Given the description of an element on the screen output the (x, y) to click on. 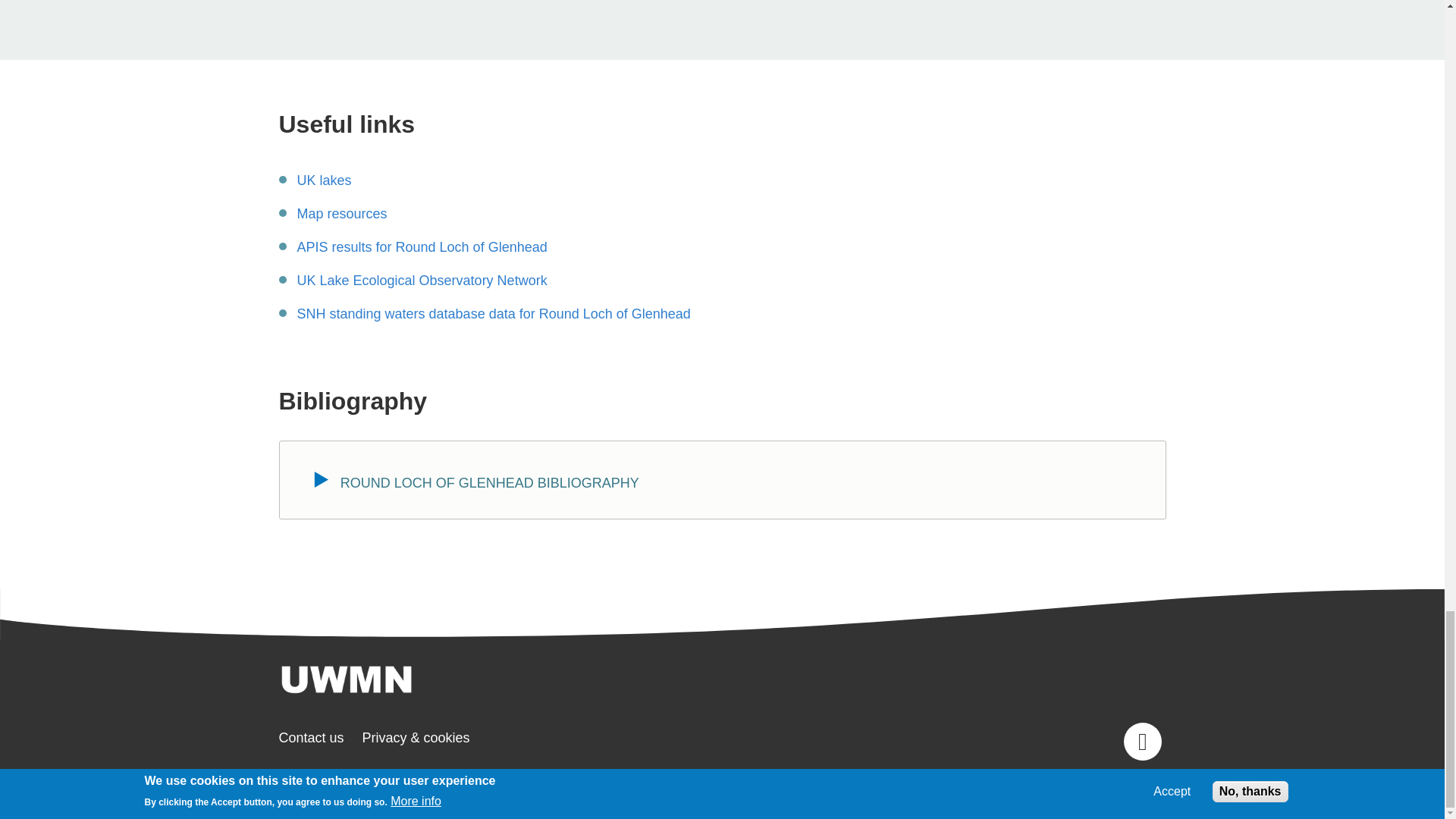
Map resources (342, 215)
Round Loch of Glenhead (324, 181)
